Given the description of an element on the screen output the (x, y) to click on. 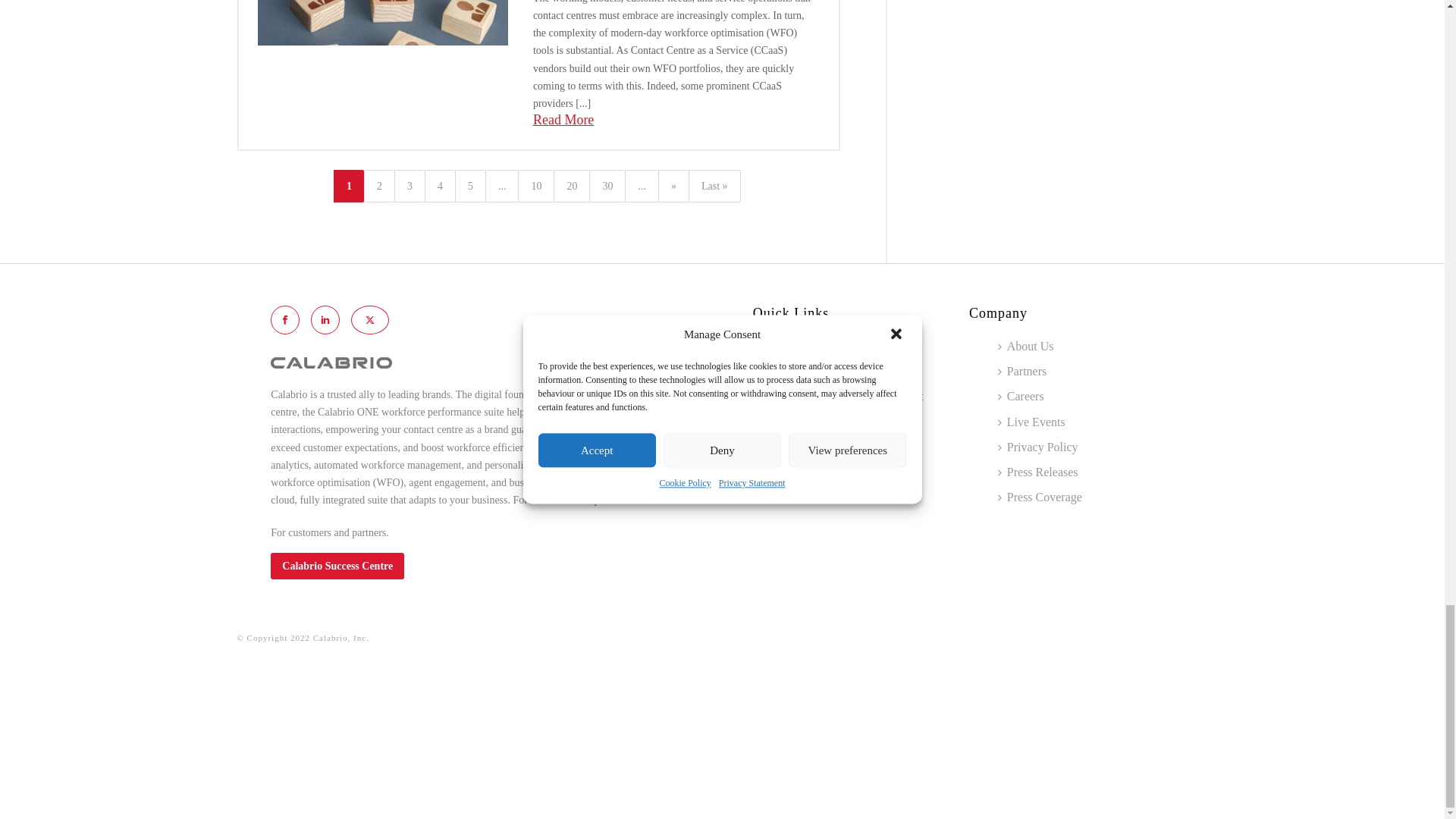
Page 10 (535, 185)
Page 20 (571, 185)
Page 5 (469, 185)
Page 30 (606, 185)
Follow Us on twitter (369, 319)
Follow Us on linkedin (325, 319)
Page 3 (409, 185)
Follow Us on facebook (284, 319)
Page 2 (379, 185)
Page 4 (439, 185)
